Given the description of an element on the screen output the (x, y) to click on. 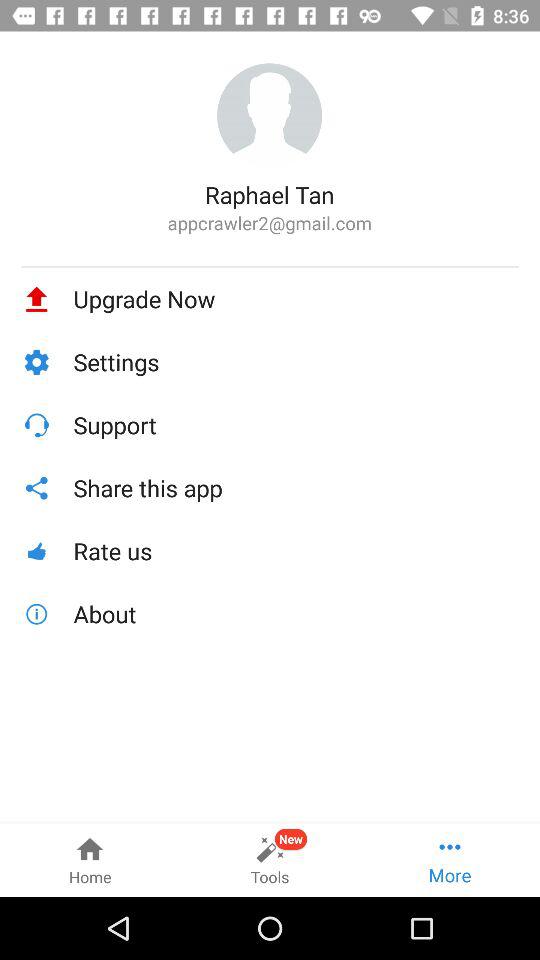
jump until the upgrade now icon (296, 299)
